Given the description of an element on the screen output the (x, y) to click on. 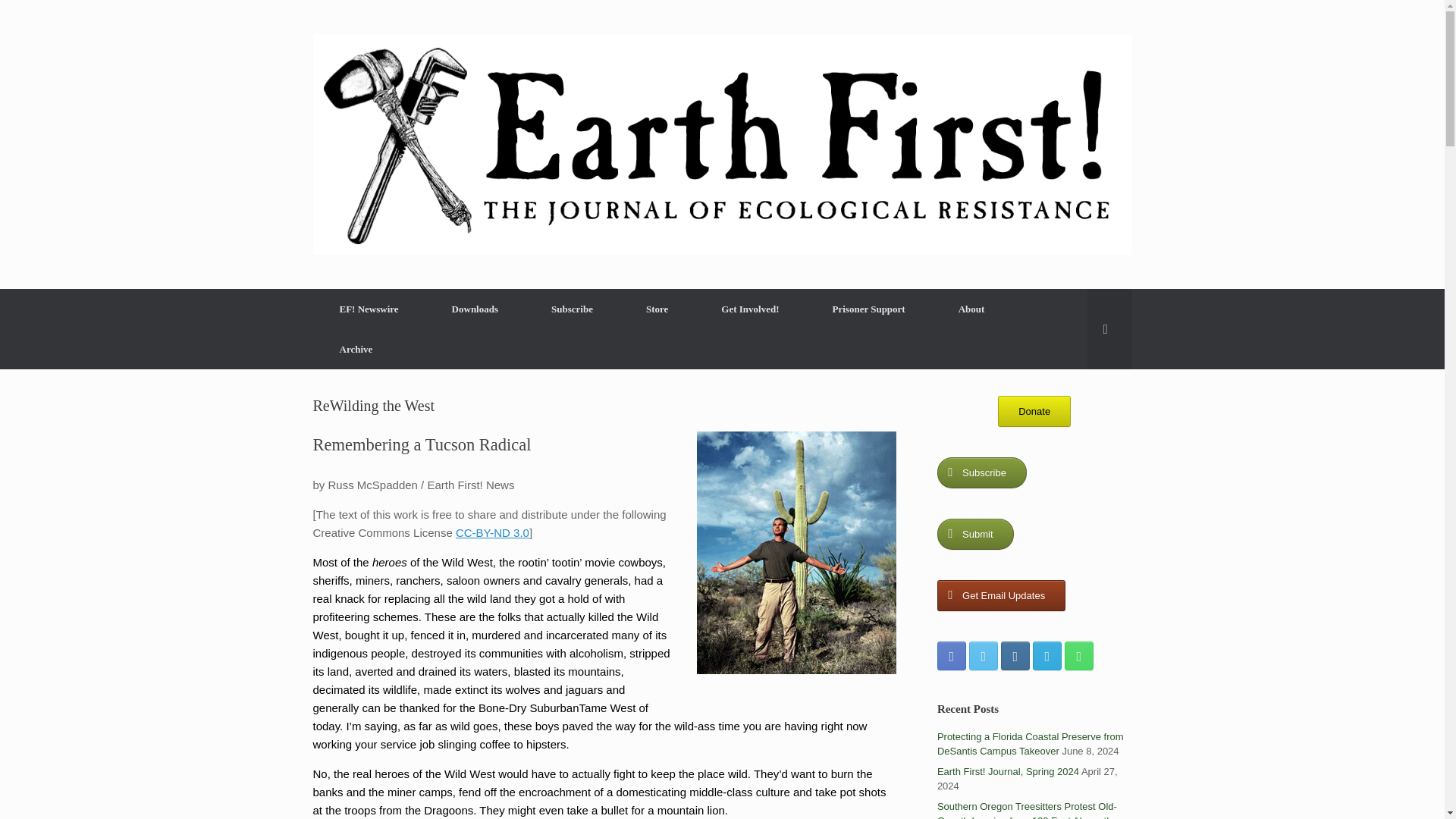
Earth First! Journal Facebook (951, 655)
Earth First! Journal Email (1046, 655)
Downloads (474, 309)
CC-BY-ND 3.0 (492, 532)
Get Involved! (749, 309)
Prisoner Support (868, 309)
About (971, 309)
EF! Newswire (369, 309)
Earth First! Journal Phone (1078, 655)
Earth First! Journal Instagram (1015, 655)
Subscribe (572, 309)
Earth First! Journal Twitter (983, 655)
Archive (355, 349)
Store (657, 309)
